Given the description of an element on the screen output the (x, y) to click on. 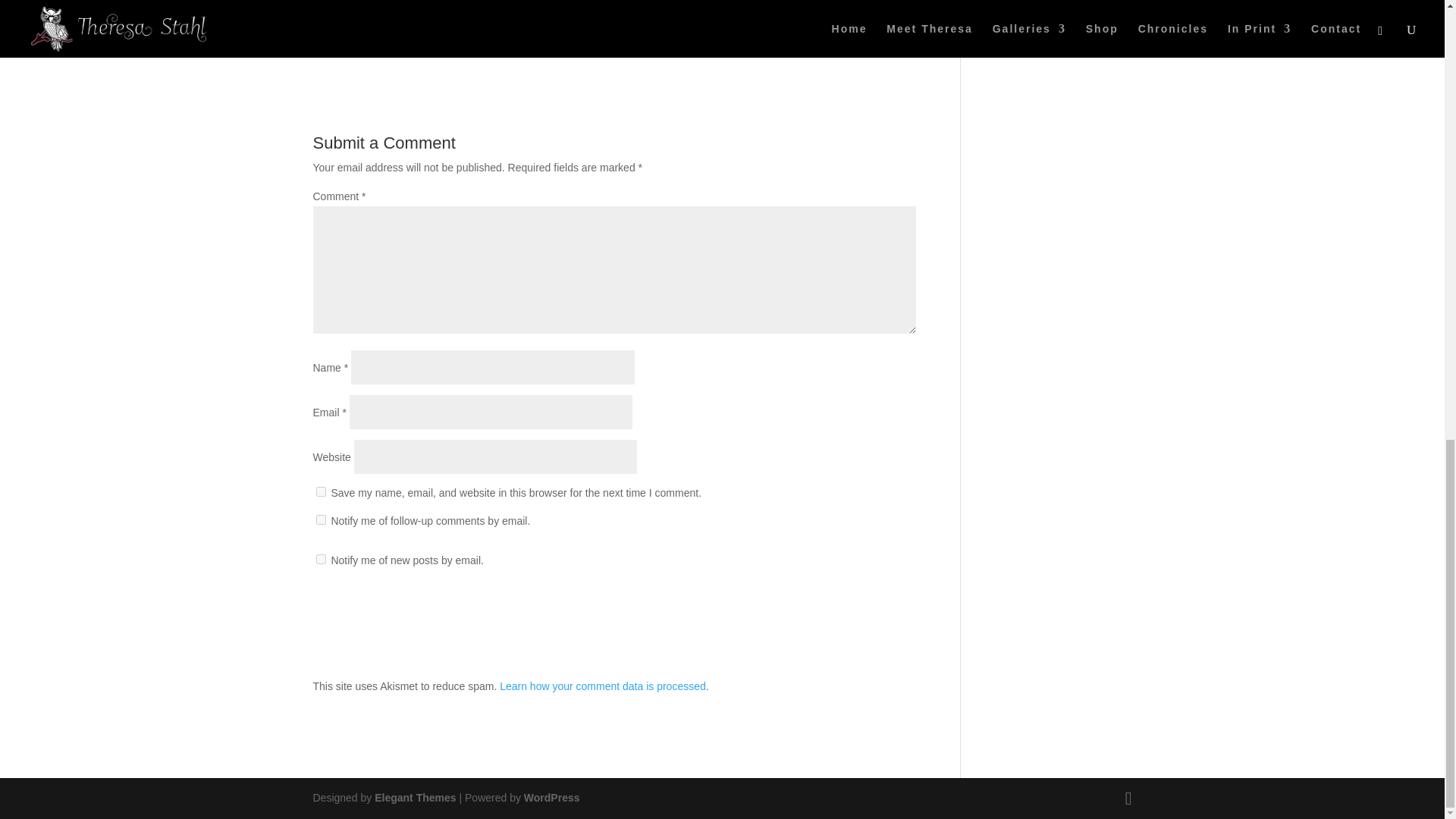
Submit Comment (840, 610)
yes (319, 491)
subscribe (319, 559)
Submit Comment (840, 610)
Premium WordPress Themes (414, 797)
subscribe (319, 519)
Elegant Themes (414, 797)
WordPress (551, 797)
Learn how your comment data is processed (602, 686)
